Given the description of an element on the screen output the (x, y) to click on. 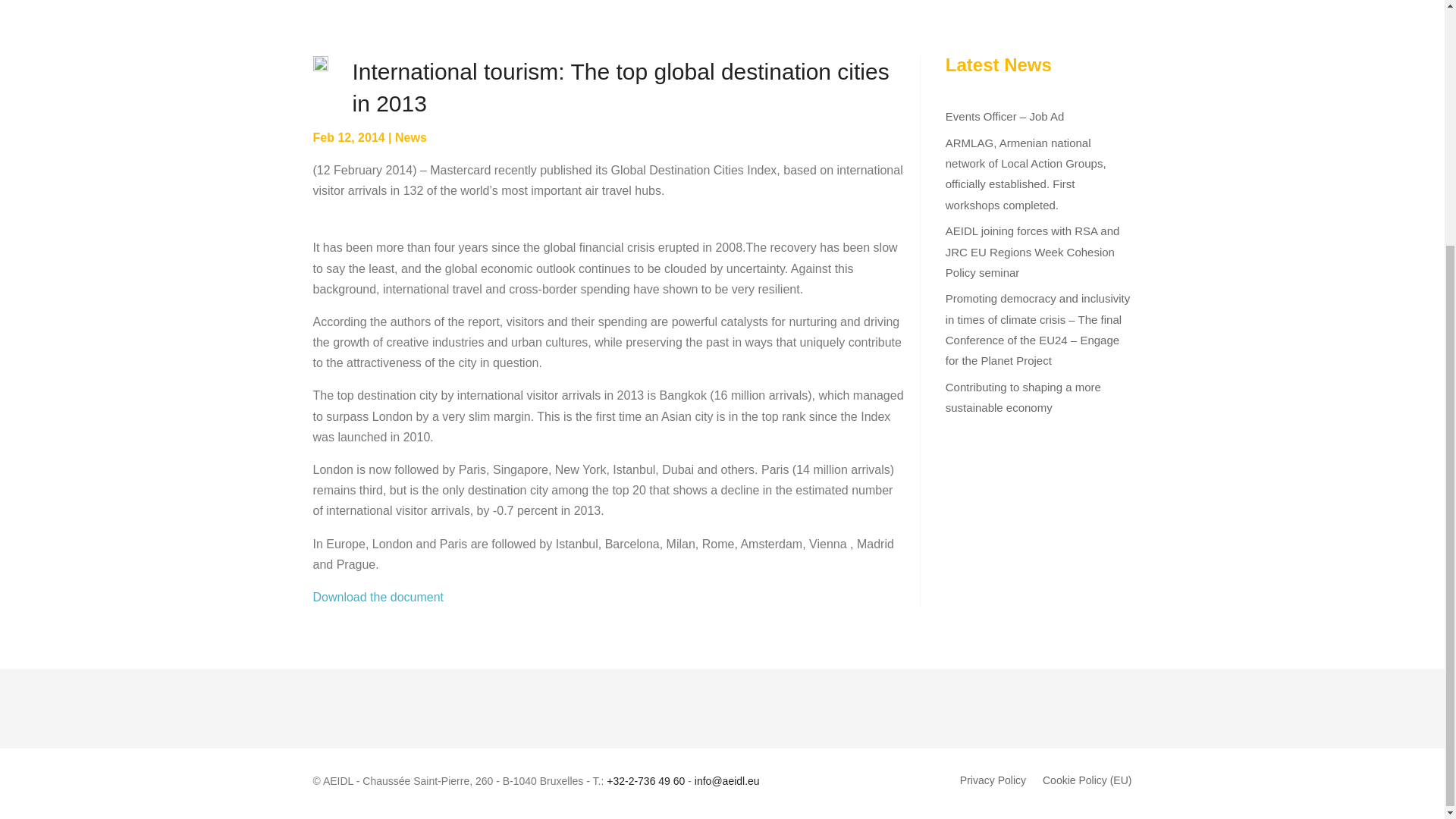
News (410, 137)
Download the document (378, 596)
